Given the description of an element on the screen output the (x, y) to click on. 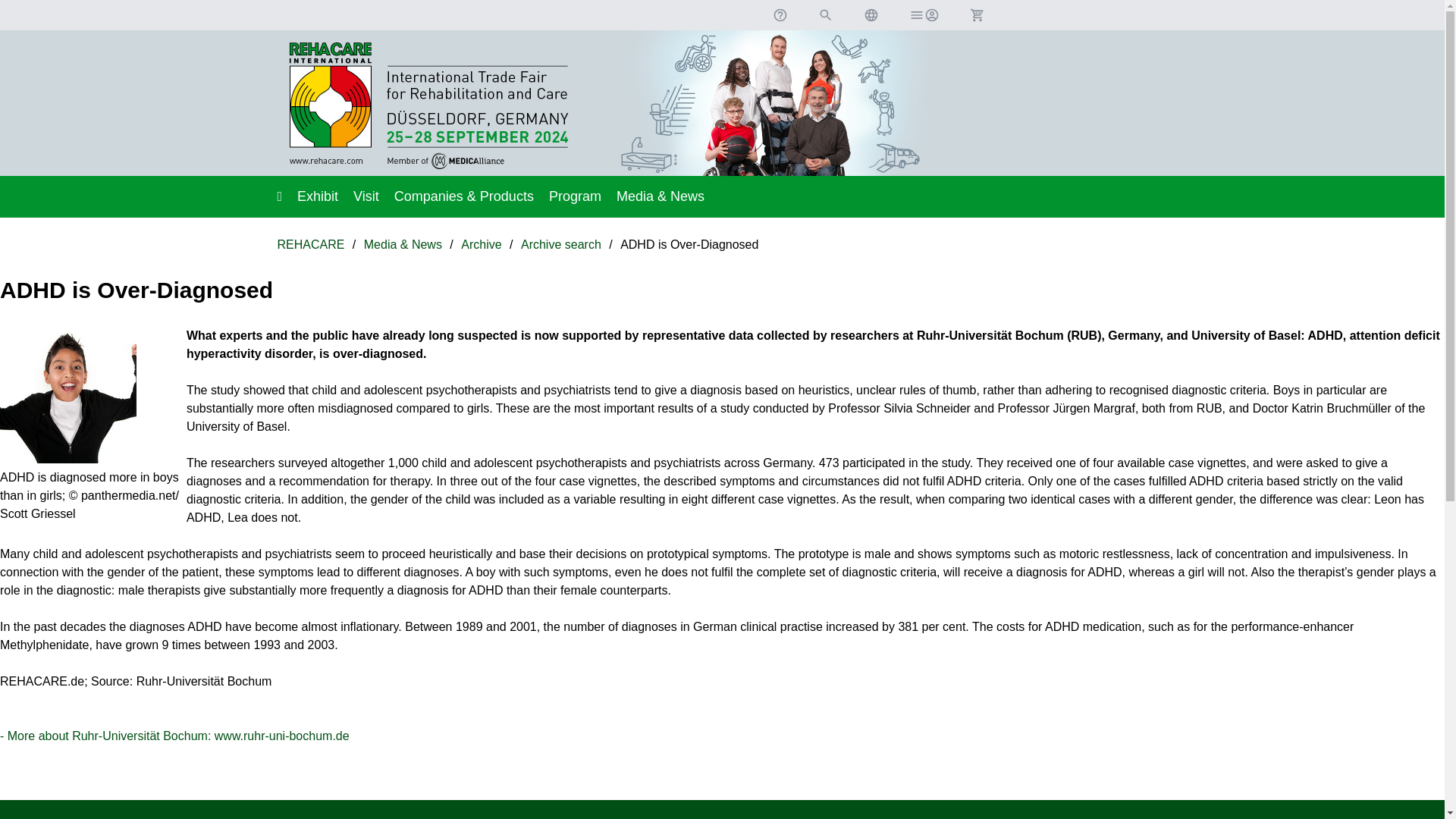
Search (824, 14)
Support (779, 14)
Login (923, 14)
Ticket shop (975, 14)
English (870, 14)
